Given the description of an element on the screen output the (x, y) to click on. 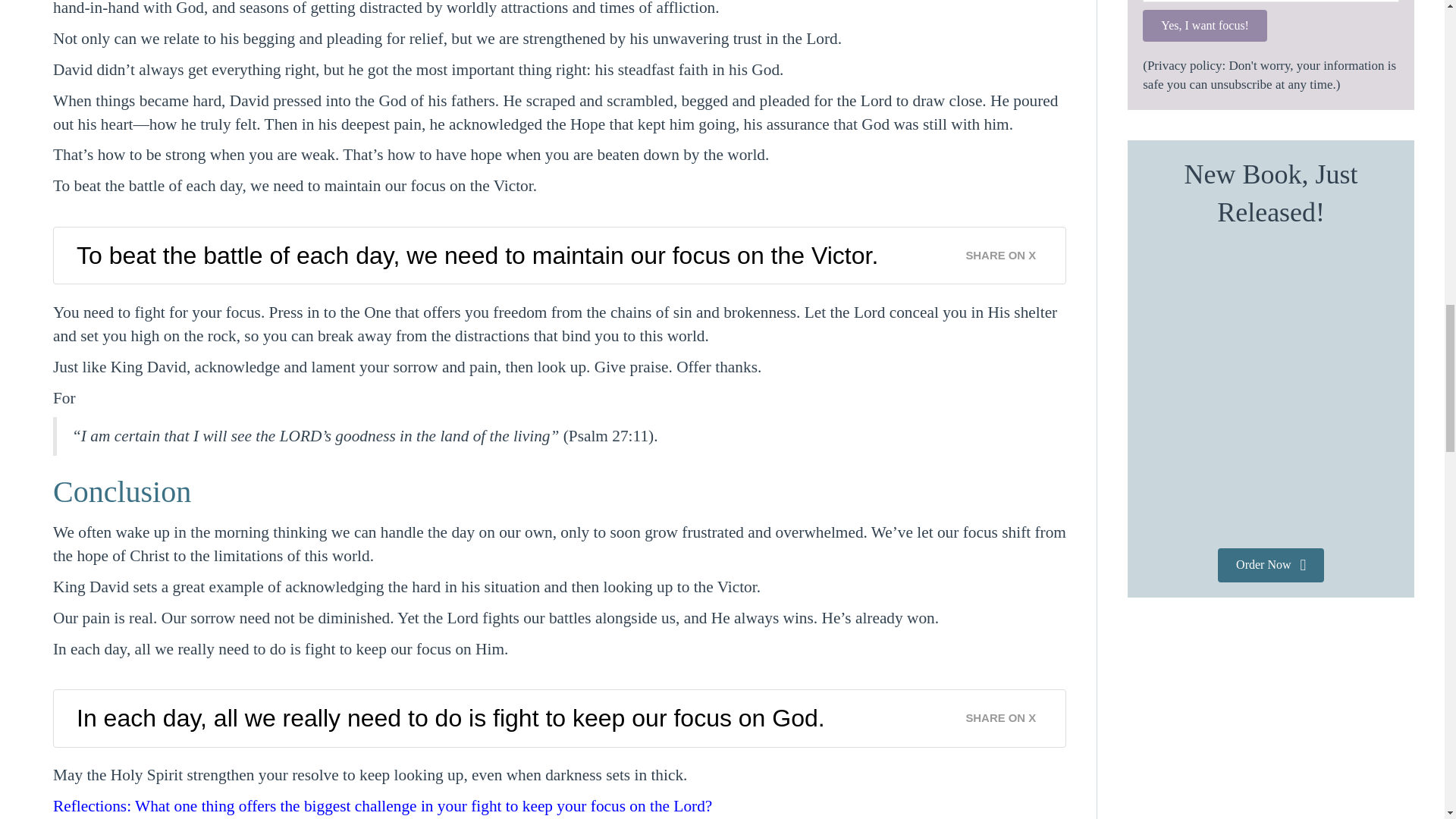
SHARE ON X (1009, 713)
SHARE ON X (1009, 251)
